Given the description of an element on the screen output the (x, y) to click on. 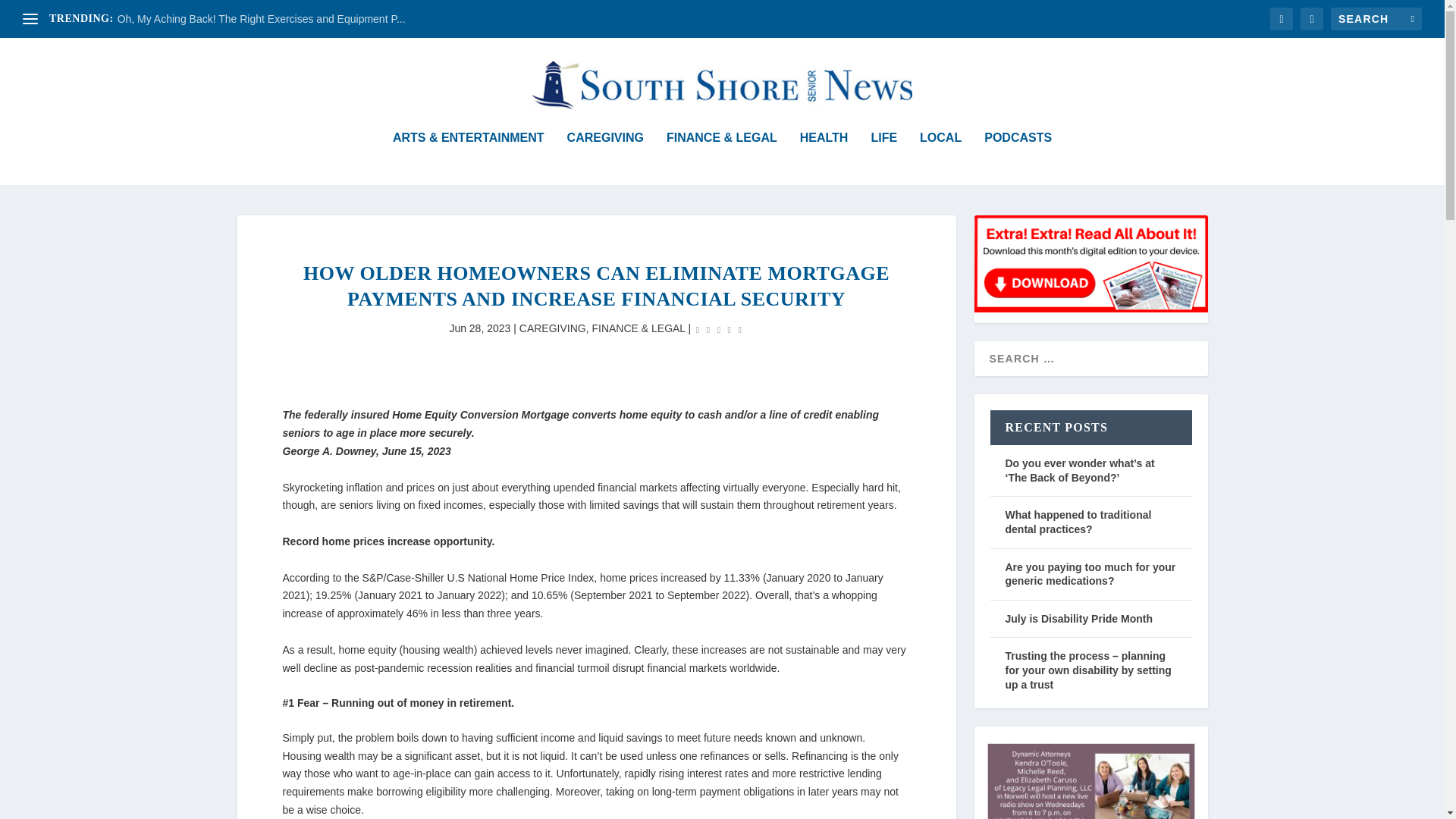
CAREGIVING (552, 328)
Rating: 0.00 (719, 329)
PODCASTS (1017, 158)
CAREGIVING (605, 158)
Oh, My Aching Back! The Right Exercises and Equipment P... (261, 19)
HEALTH (823, 158)
Search for: (1376, 18)
